Given the description of an element on the screen output the (x, y) to click on. 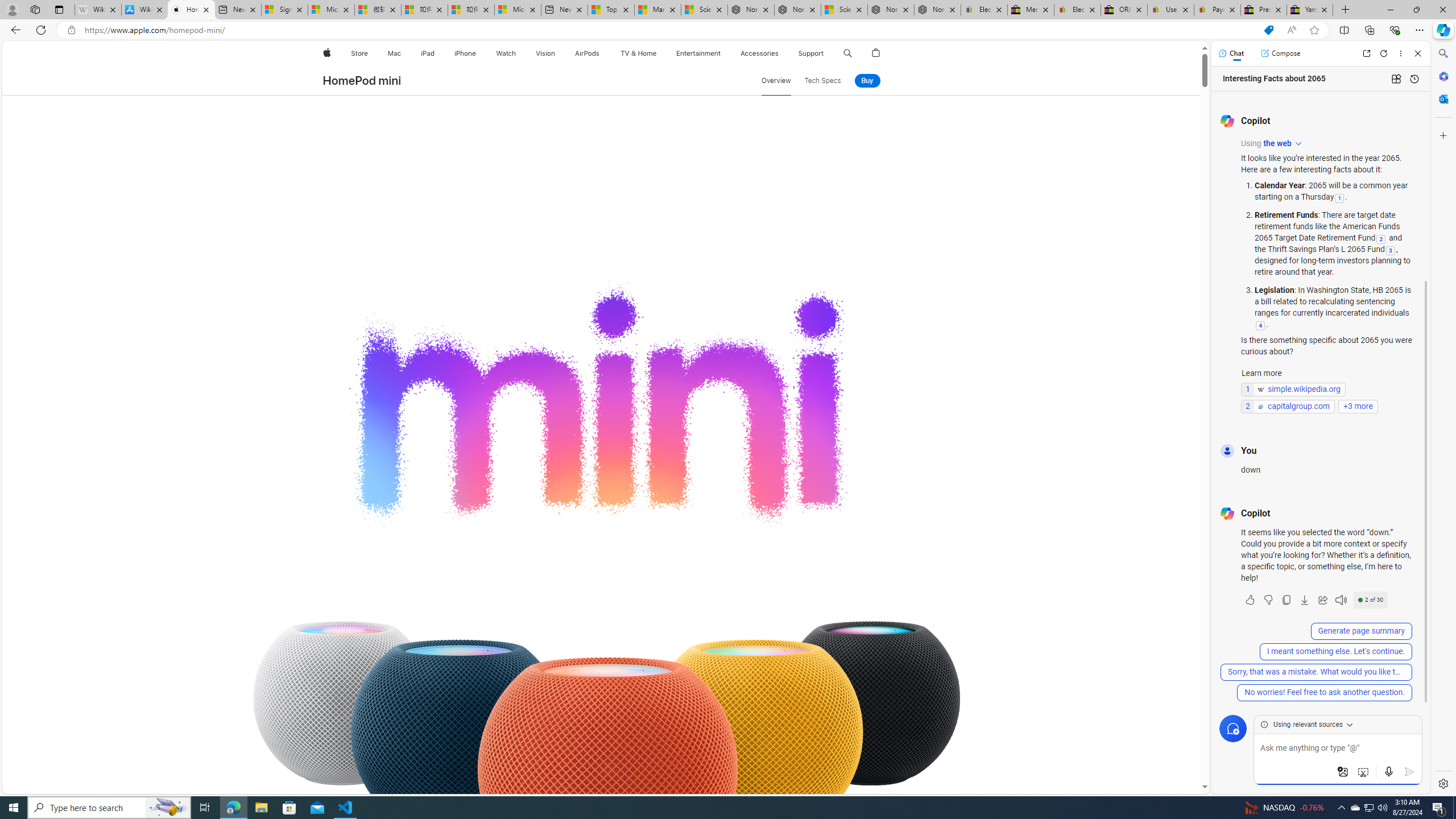
iPad (427, 53)
Buy HomePod mini (867, 80)
Class: globalnav-item globalnav-search shift-0-1 (847, 53)
Apple (325, 53)
TV and Home menu (658, 53)
AirPods (587, 53)
Accessories (759, 53)
